Given the description of an element on the screen output the (x, y) to click on. 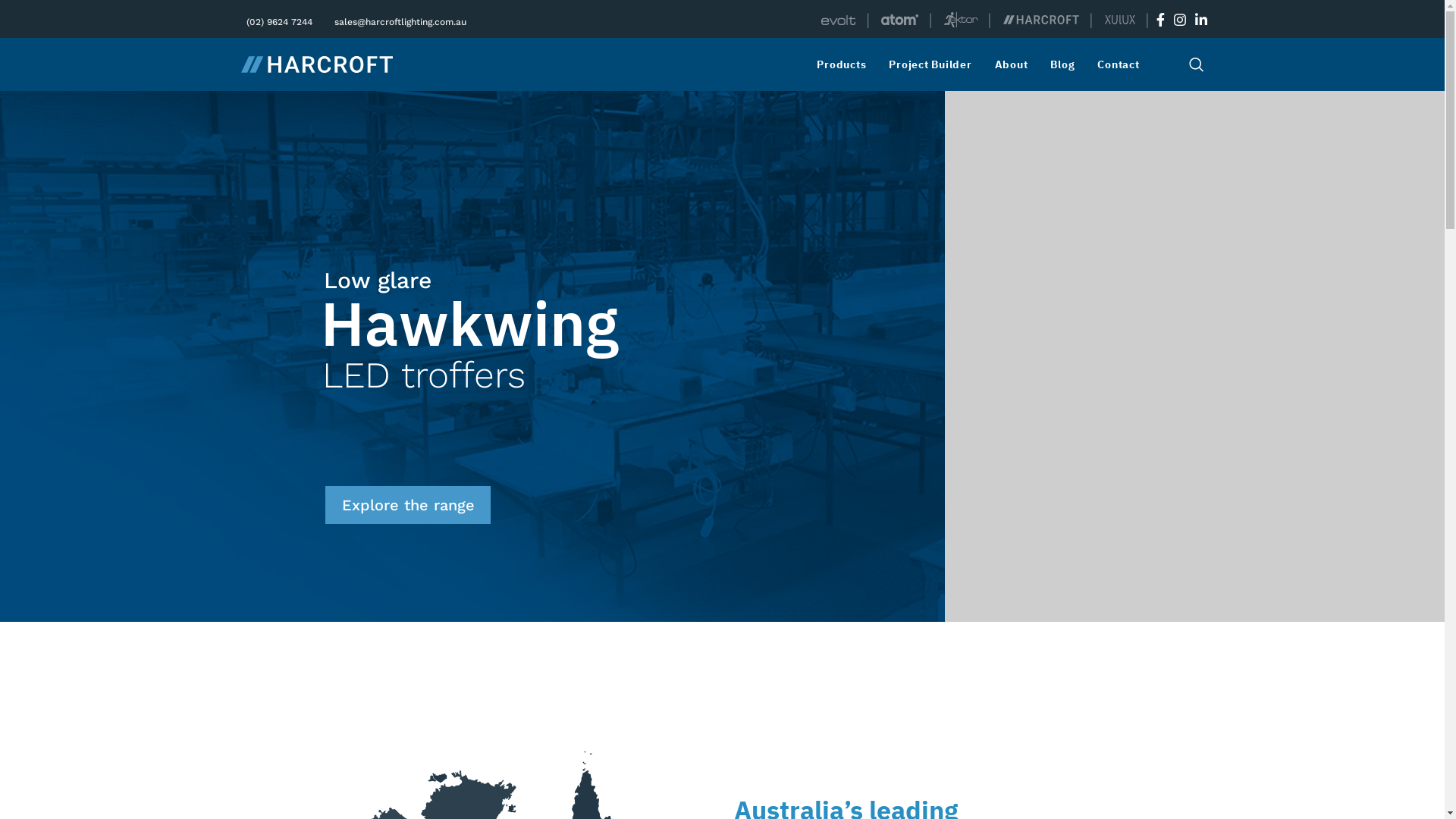
Xulux Lighting Element type: hover (1119, 19)
Evolt Distributor Element type: hover (838, 20)
Contact Element type: text (1121, 64)
(02) 9624 7244 Element type: text (277, 19)
About Element type: text (1014, 64)
Products Element type: text (844, 64)
Atom Lighting Element type: hover (899, 19)
Ektor Emergency Lighting Element type: hover (960, 19)
Search Element type: hover (1196, 64)
Project Builder Element type: text (933, 64)
sales@harcroftlighting.com.au Element type: text (398, 19)
Blog Element type: text (1066, 64)
Explore the range Element type: text (407, 505)
Harcroft Lighting Element type: hover (1040, 19)
